Given the description of an element on the screen output the (x, y) to click on. 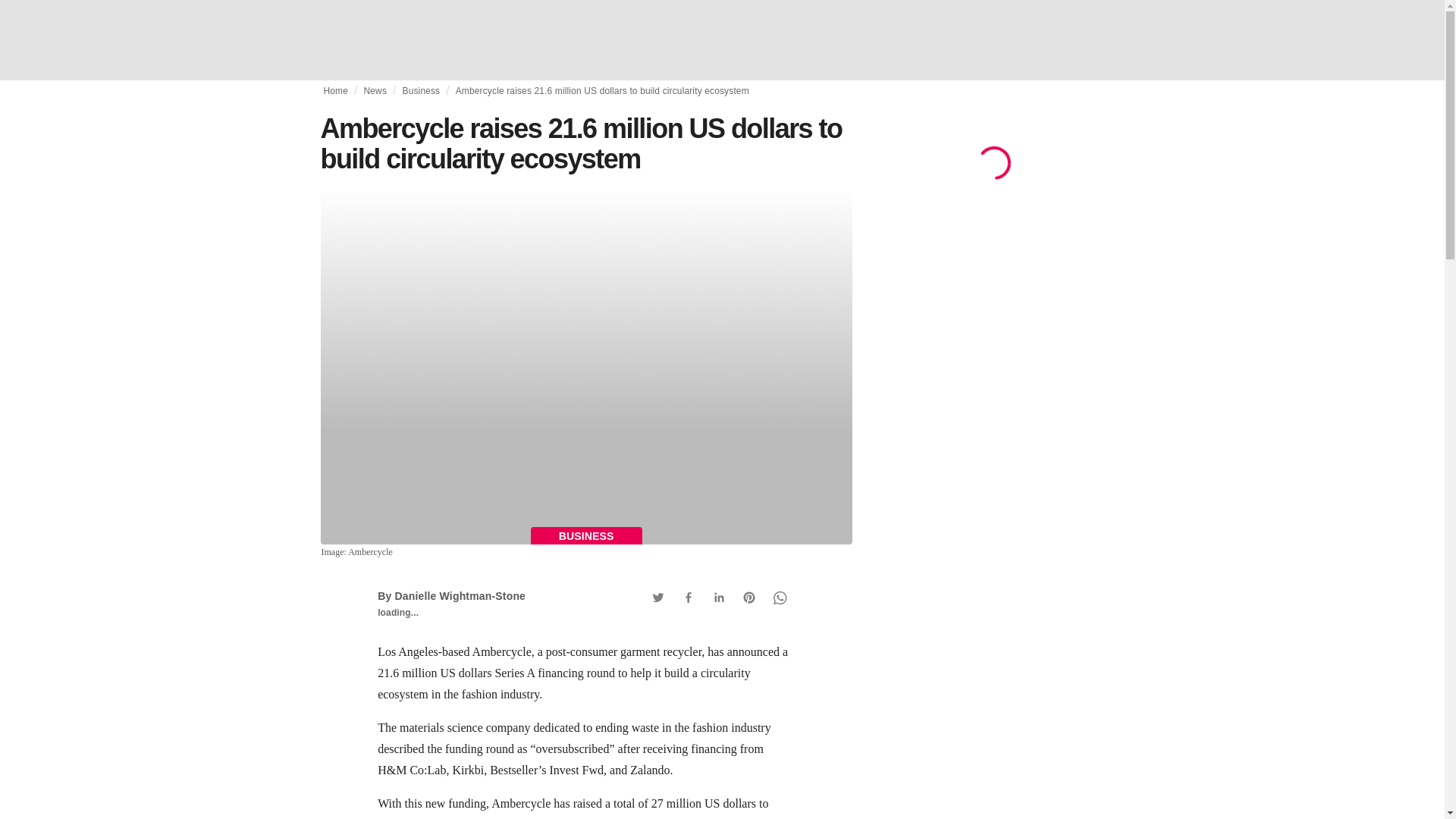
News (375, 90)
Home (335, 90)
Business (420, 90)
By Danielle Wightman-Stone (451, 595)
